Given the description of an element on the screen output the (x, y) to click on. 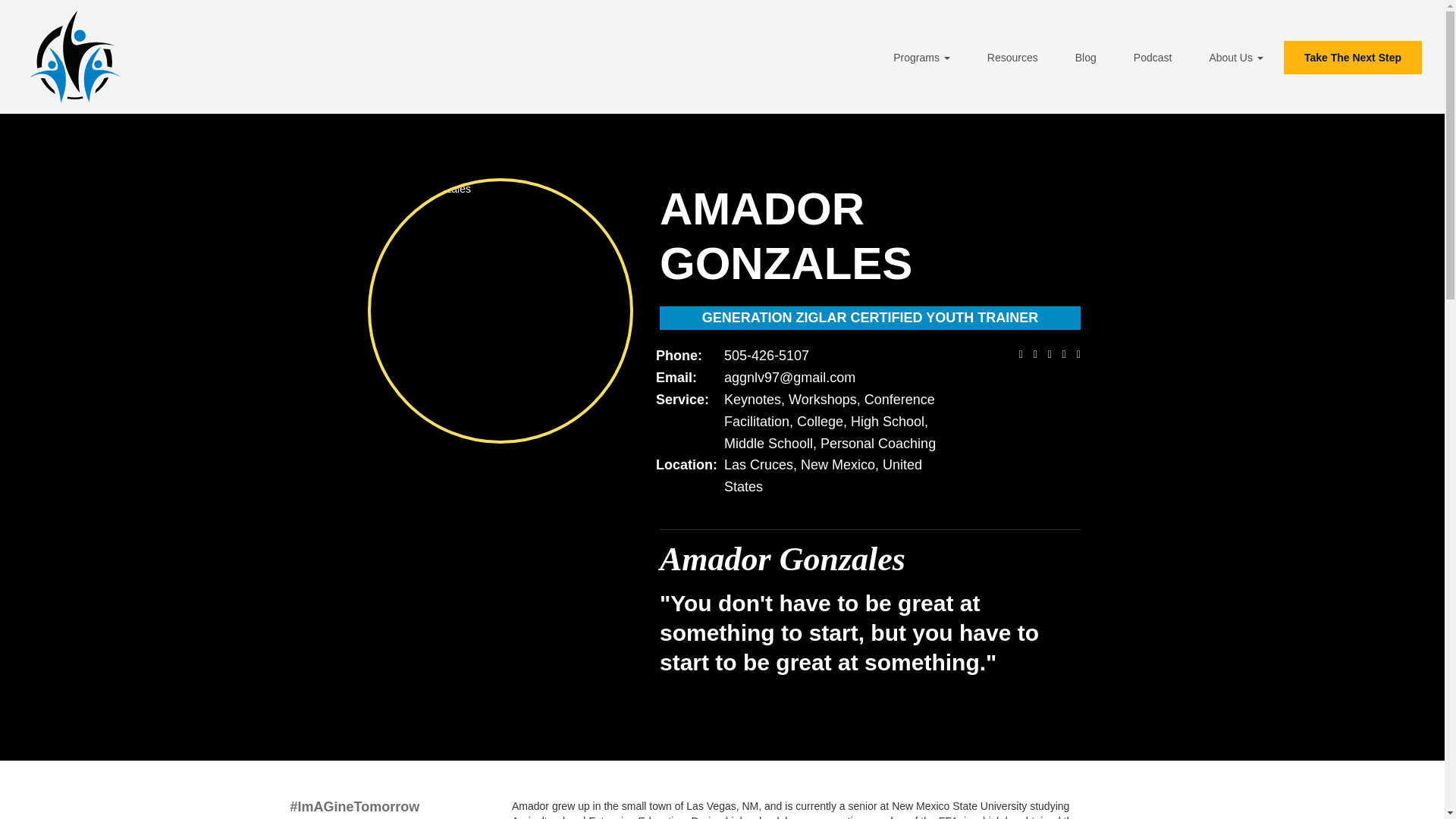
Take The Next Step (1353, 57)
About Us (1235, 57)
Blog (1085, 57)
Podcast (1152, 57)
Programs (921, 57)
Resources (1012, 57)
